Given the description of an element on the screen output the (x, y) to click on. 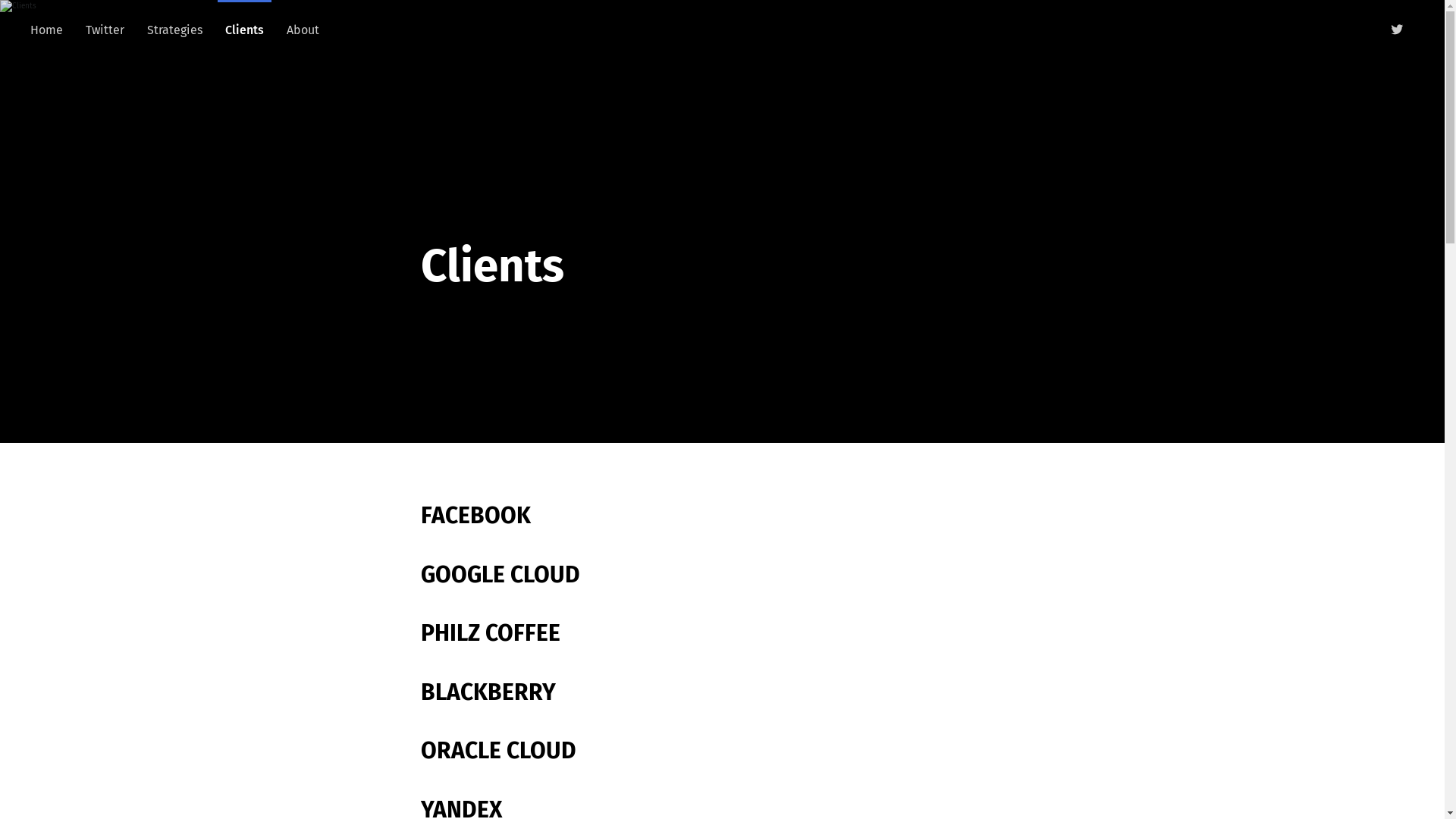
Strategies Element type: text (174, 30)
Home Element type: text (46, 30)
Twitter Element type: text (104, 30)
Clients Element type: text (244, 30)
@ekrahm Element type: hover (1396, 30)
About Element type: text (302, 30)
